Given the description of an element on the screen output the (x, y) to click on. 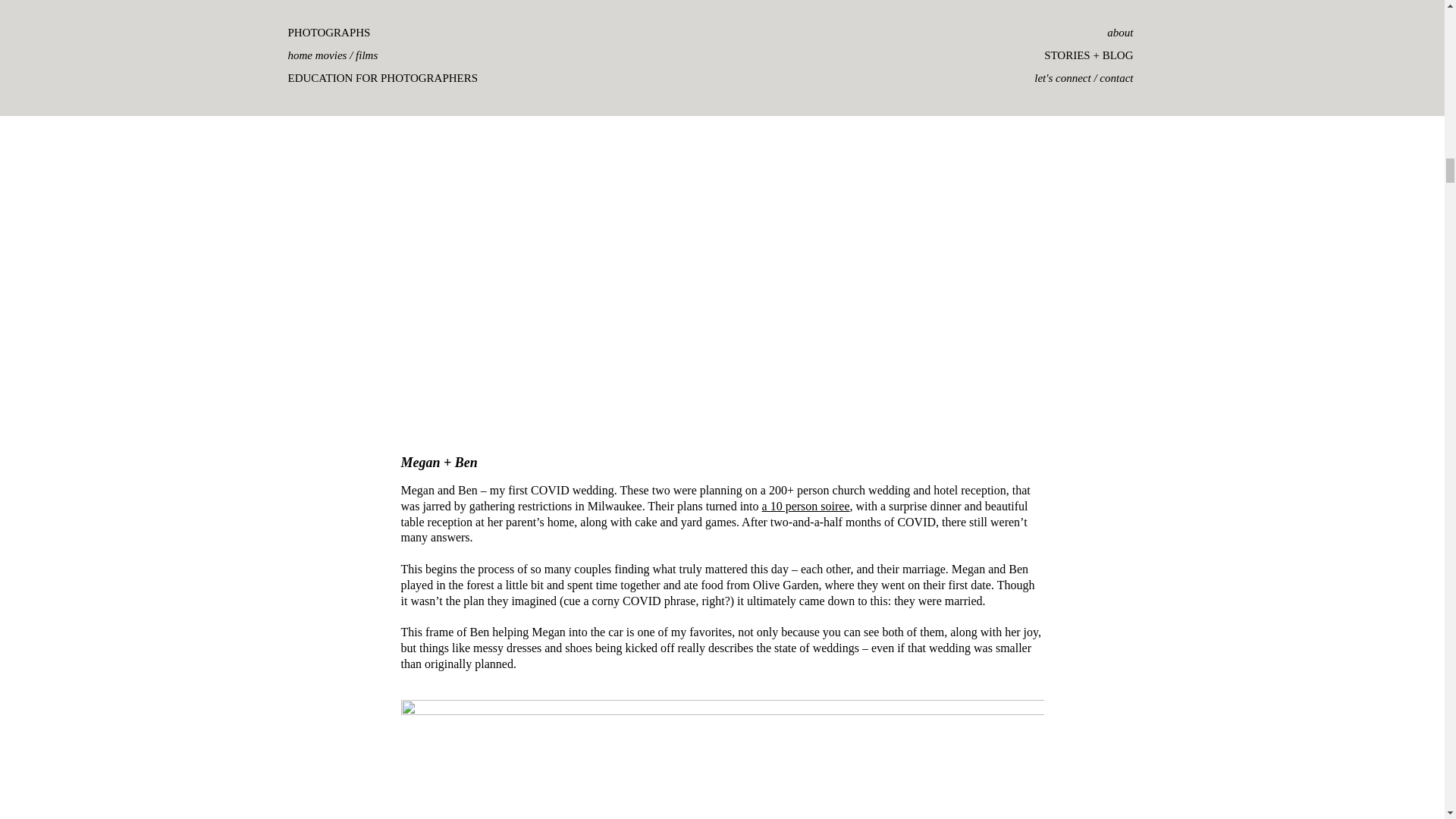
a 10 person soiree (805, 505)
